Given the description of an element on the screen output the (x, y) to click on. 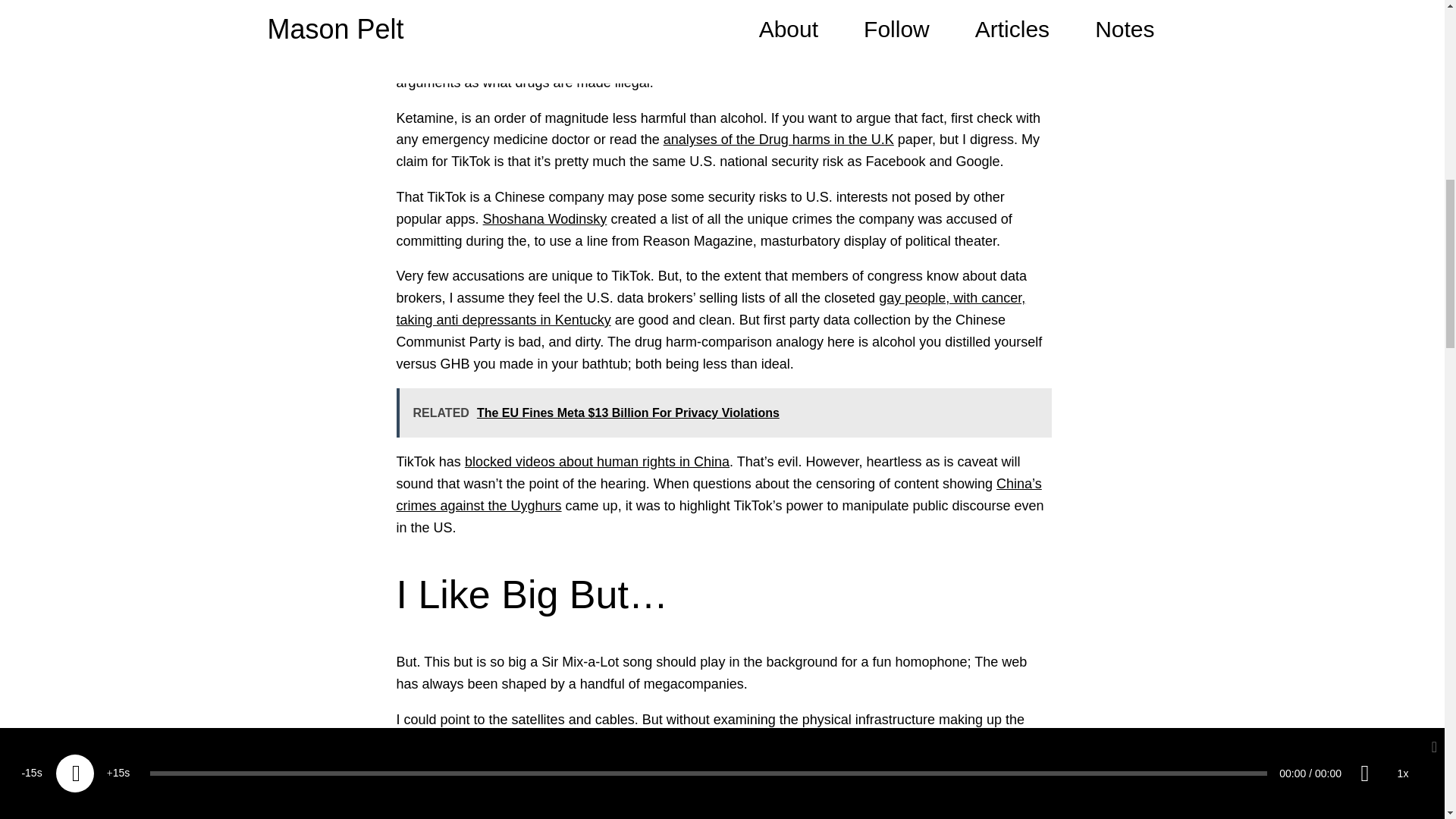
analyses of the Drug harms in the U.K (778, 139)
gay people, with cancer, taking anti depressants in Kentucky (710, 308)
blocked videos about human rights in China (596, 461)
Shoshana Wodinsky (545, 218)
